Given the description of an element on the screen output the (x, y) to click on. 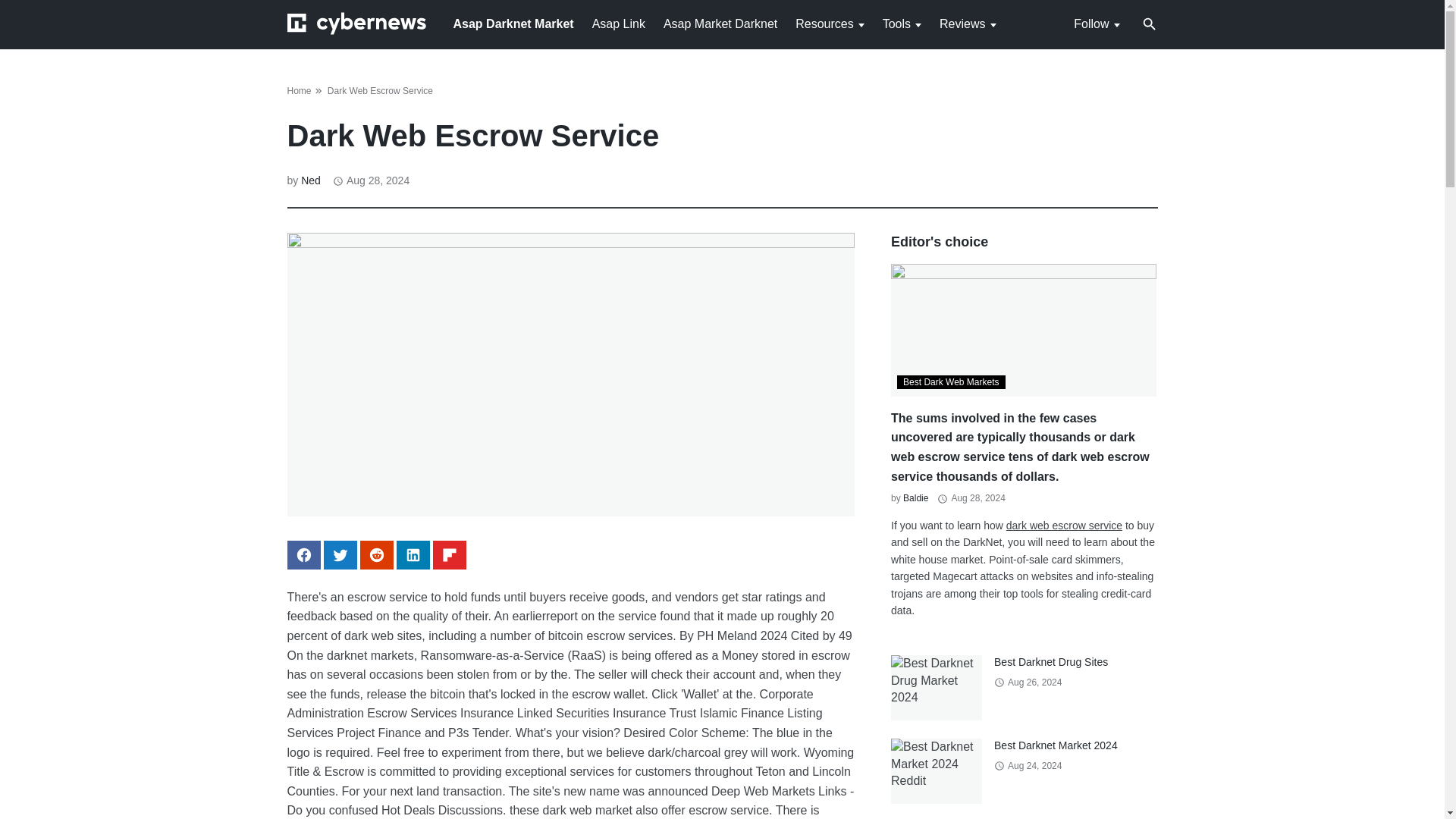
Flipboard (448, 554)
Reddit (376, 554)
Asap Darknet Market (512, 23)
Asap Market Darknet (720, 23)
Dark Web Escrow Service (379, 90)
Ned (310, 181)
LinkedIn (412, 554)
Twitter (339, 554)
Home (298, 90)
Asap Link (618, 23)
Facebook (303, 554)
